Given the description of an element on the screen output the (x, y) to click on. 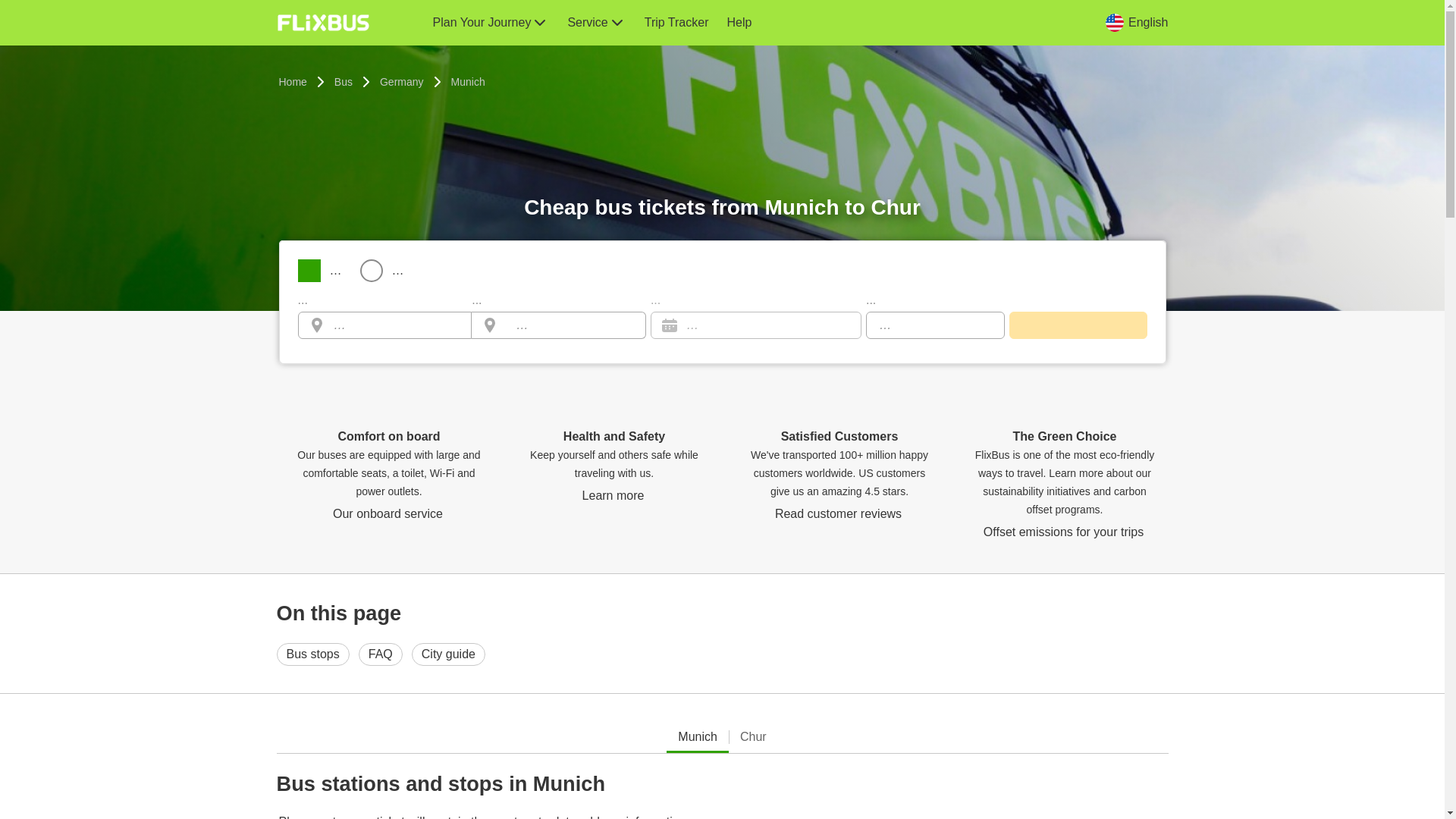
Service (595, 22)
Learn more (613, 495)
Bus (343, 81)
City guide (448, 653)
Offset emissions for your trips (1064, 532)
Germany (401, 81)
Munich (467, 81)
Read customer reviews (839, 513)
English (1136, 22)
Home (292, 81)
FAQ (380, 653)
Chur (753, 736)
Germany (401, 81)
Munich (697, 736)
Plan Your Journey (490, 22)
